Given the description of an element on the screen output the (x, y) to click on. 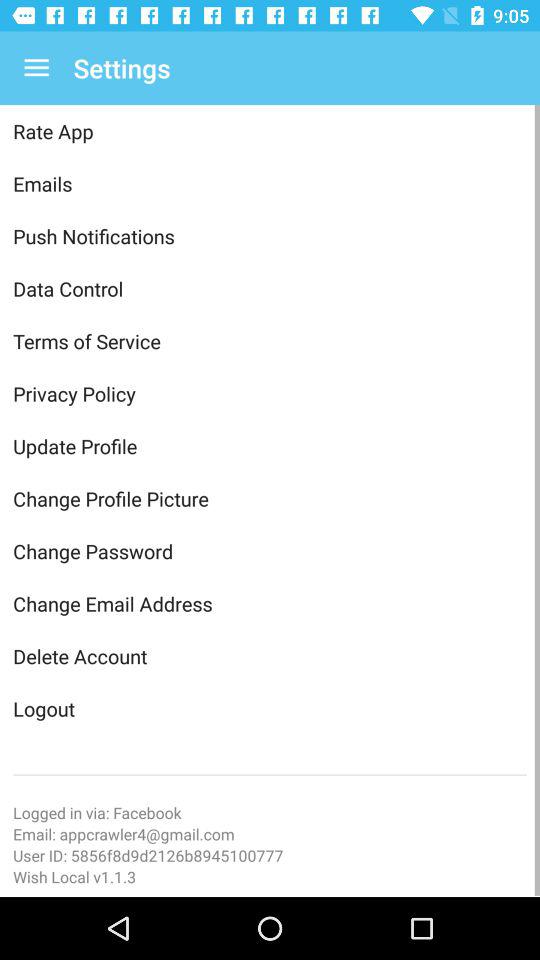
click the item above the data control icon (269, 236)
